Given the description of an element on the screen output the (x, y) to click on. 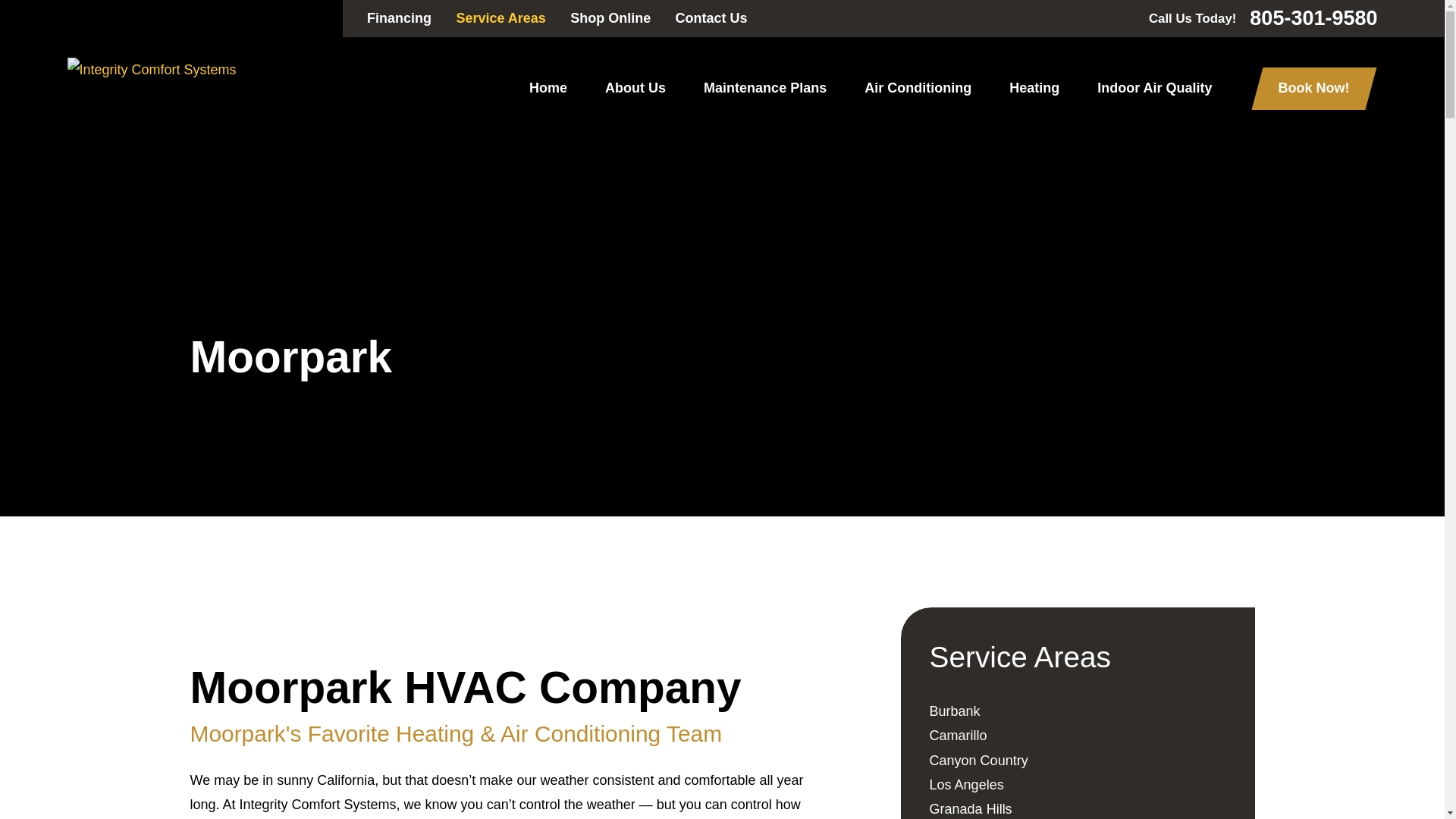
Financing (398, 17)
Home (548, 88)
Contact Us (711, 17)
Home (150, 69)
Air Conditioning (917, 88)
Heating (1034, 88)
Indoor Air Quality (1154, 88)
About Us (635, 88)
Maintenance Plans (765, 88)
Shop Online (610, 17)
805-301-9580 (1313, 18)
Service Areas (499, 17)
